Given the description of an element on the screen output the (x, y) to click on. 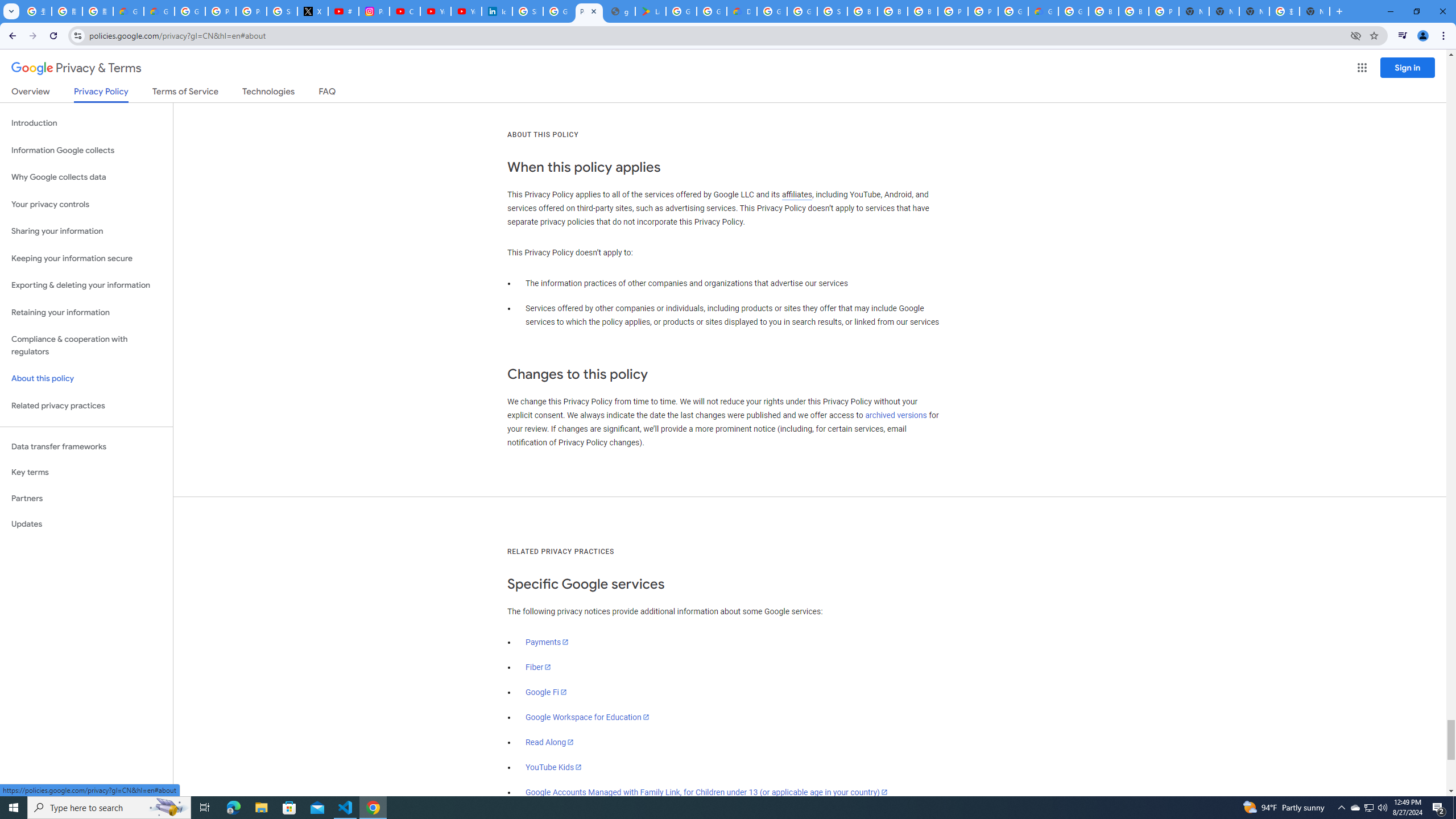
Sign in - Google Accounts (527, 11)
Google Cloud Estimate Summary (1042, 11)
Google Cloud Platform (1012, 11)
